Given the description of an element on the screen output the (x, y) to click on. 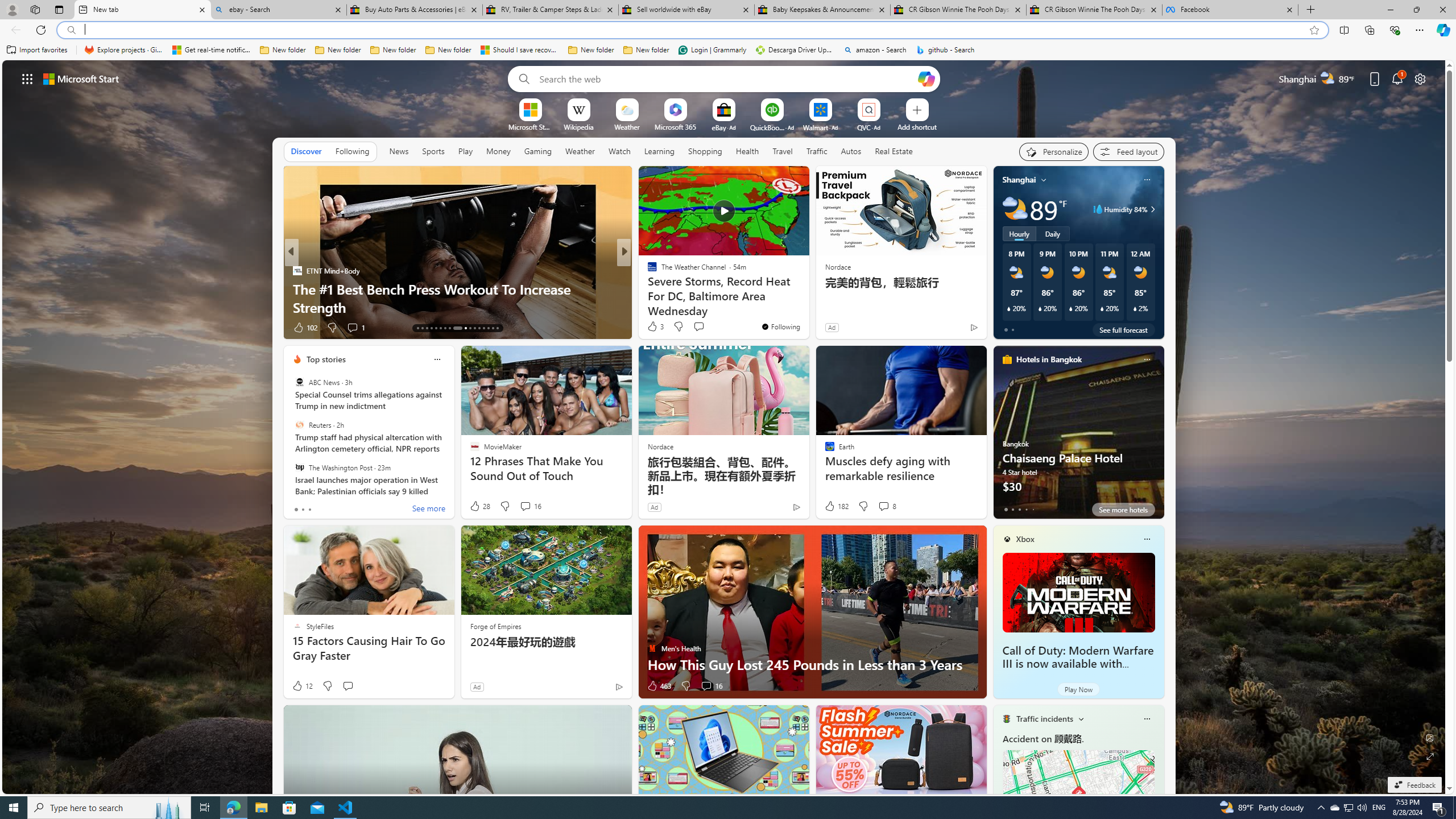
353 Like (654, 327)
You're following The Weather Channel (780, 326)
Edit Background (1430, 737)
AutomationID: tab-17 (435, 328)
Shopping (705, 151)
Lonely dolphin may be behind series of attacks on swimmers (807, 298)
